Given the description of an element on the screen output the (x, y) to click on. 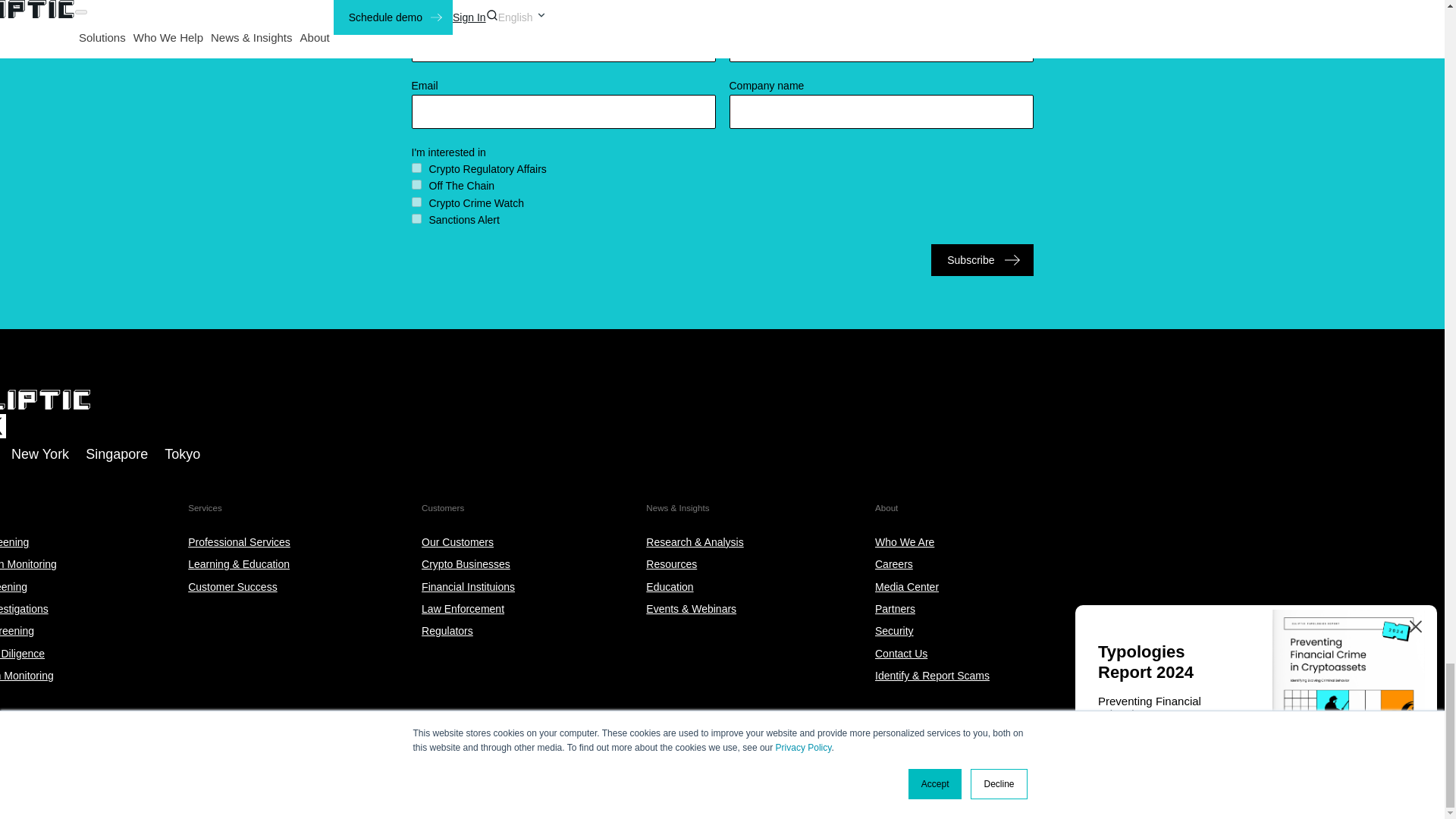
Crypto Regulations (415, 167)
Sanctions Newsletter (415, 218)
Off The Chain (415, 184)
Subscribe (981, 260)
Crypto Crime (415, 202)
